Given the description of an element on the screen output the (x, y) to click on. 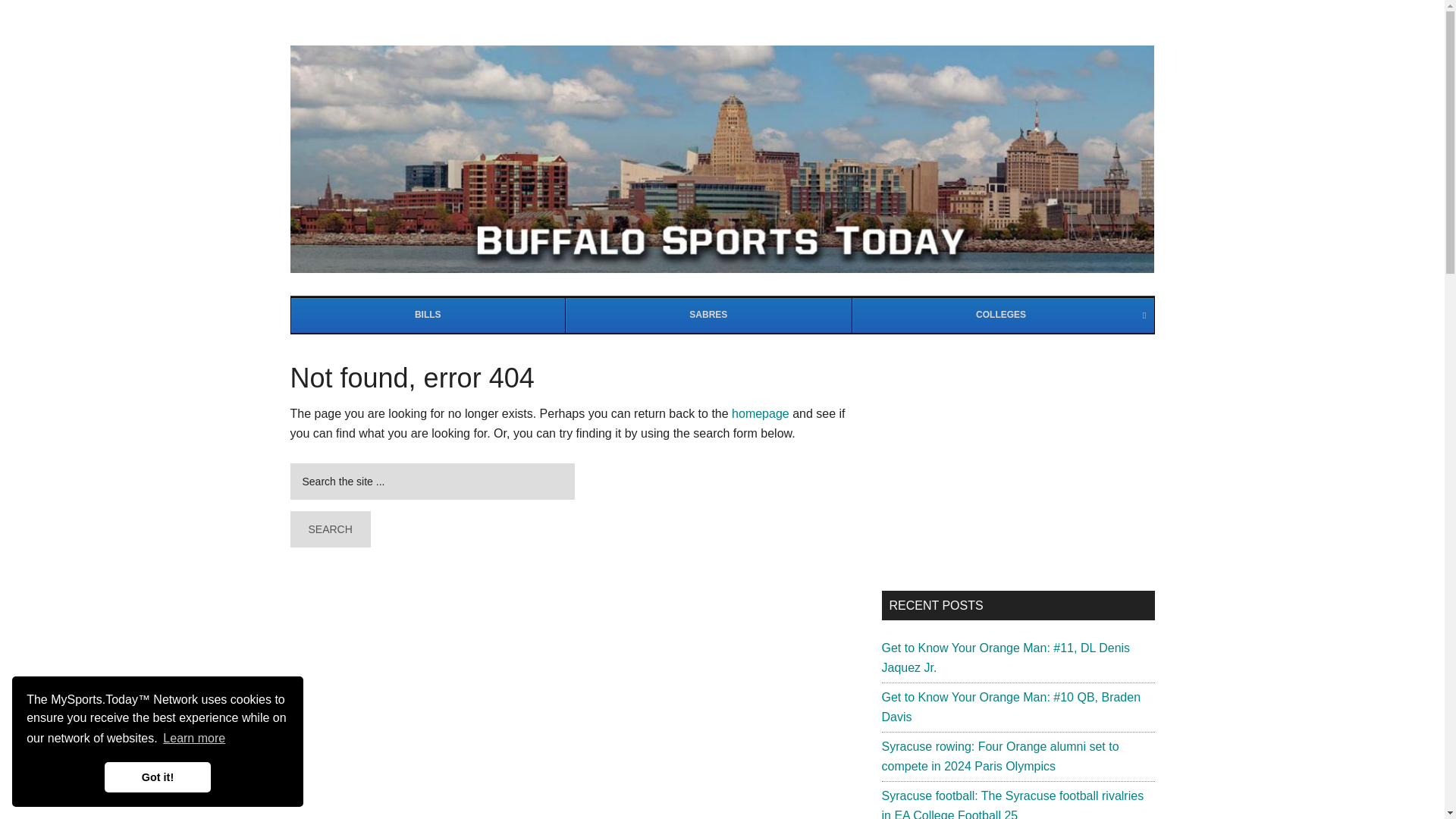
Search (329, 529)
Search (329, 529)
Search (329, 529)
Got it! (721, 315)
SABRES (157, 780)
Learn more (707, 315)
Skip to main content (191, 751)
BILLS (1002, 315)
homepage (427, 315)
